Given the description of an element on the screen output the (x, y) to click on. 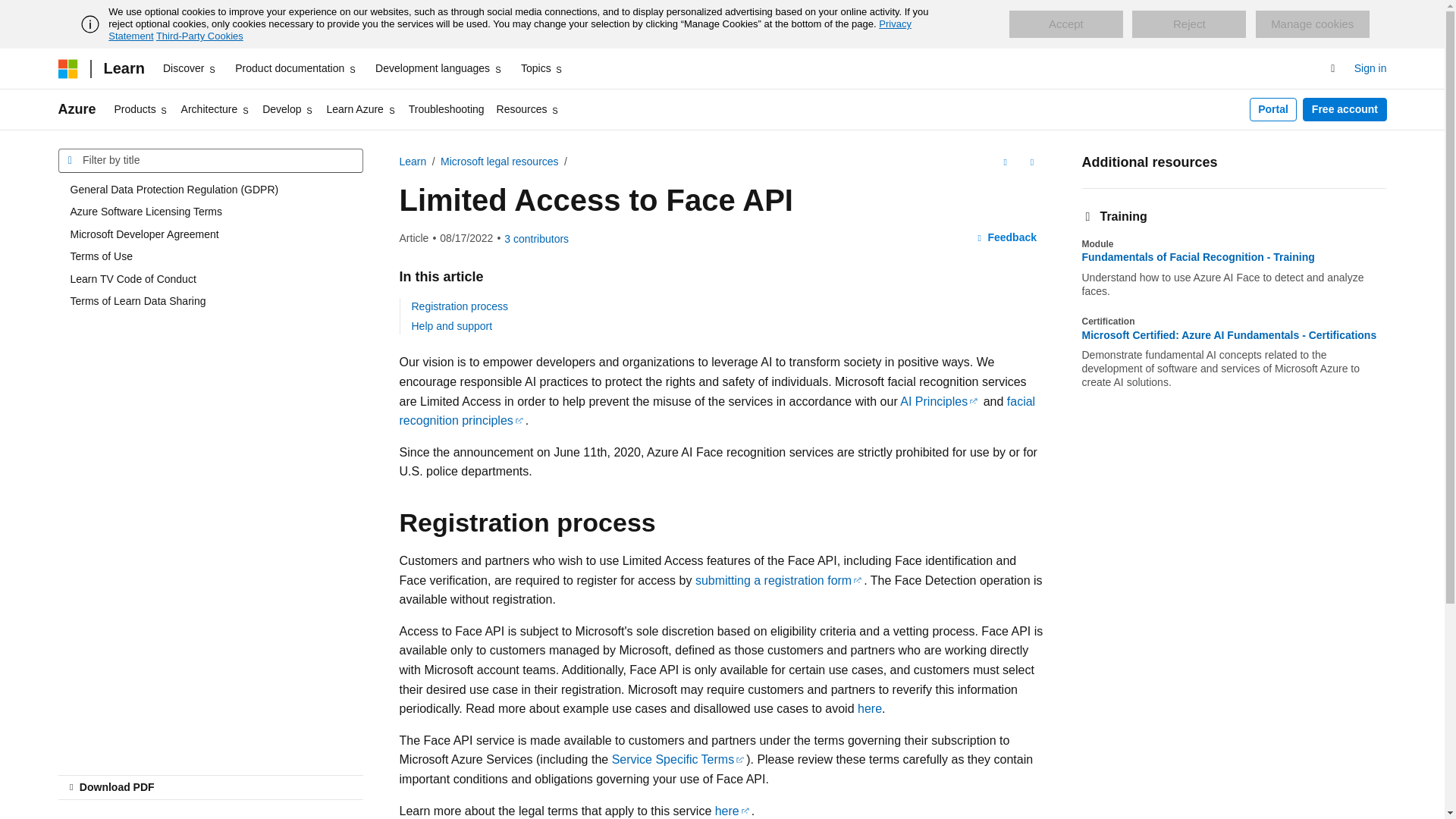
Reject (1189, 23)
Sign in (1370, 68)
Products (140, 109)
Product documentation (295, 68)
Privacy Statement (509, 29)
Azure (77, 109)
Skip to main content (11, 11)
Development languages (438, 68)
Accept (1065, 23)
More actions (1031, 161)
